Given the description of an element on the screen output the (x, y) to click on. 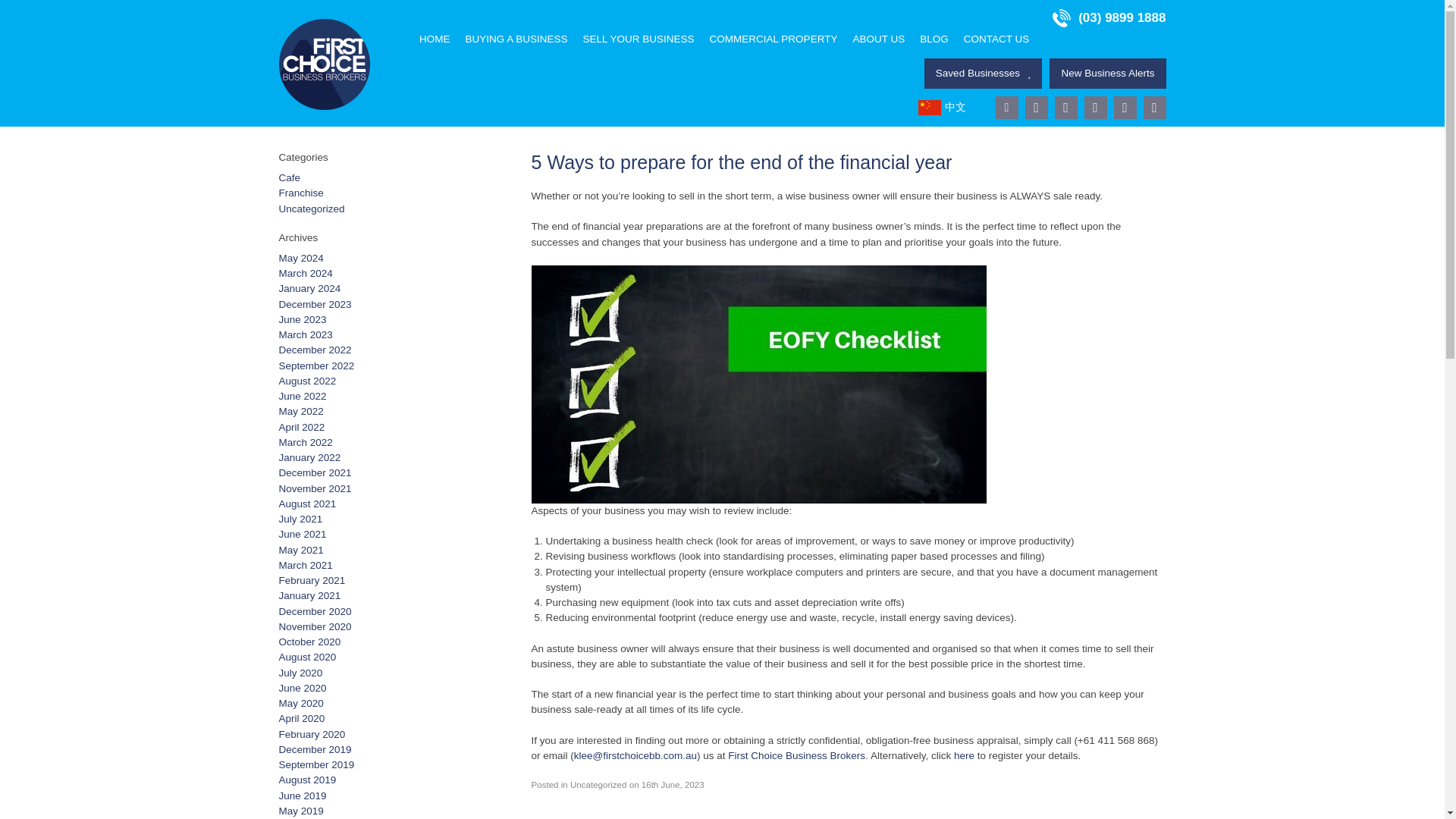
Wechat (1154, 107)
phone (1108, 17)
CONTACT US (996, 38)
Facebook (1036, 107)
Saved Businesses (983, 73)
ABOUT US (878, 38)
Twitter (1095, 107)
HOME (435, 38)
New Business Alerts (1107, 73)
CN (944, 107)
